Given the description of an element on the screen output the (x, y) to click on. 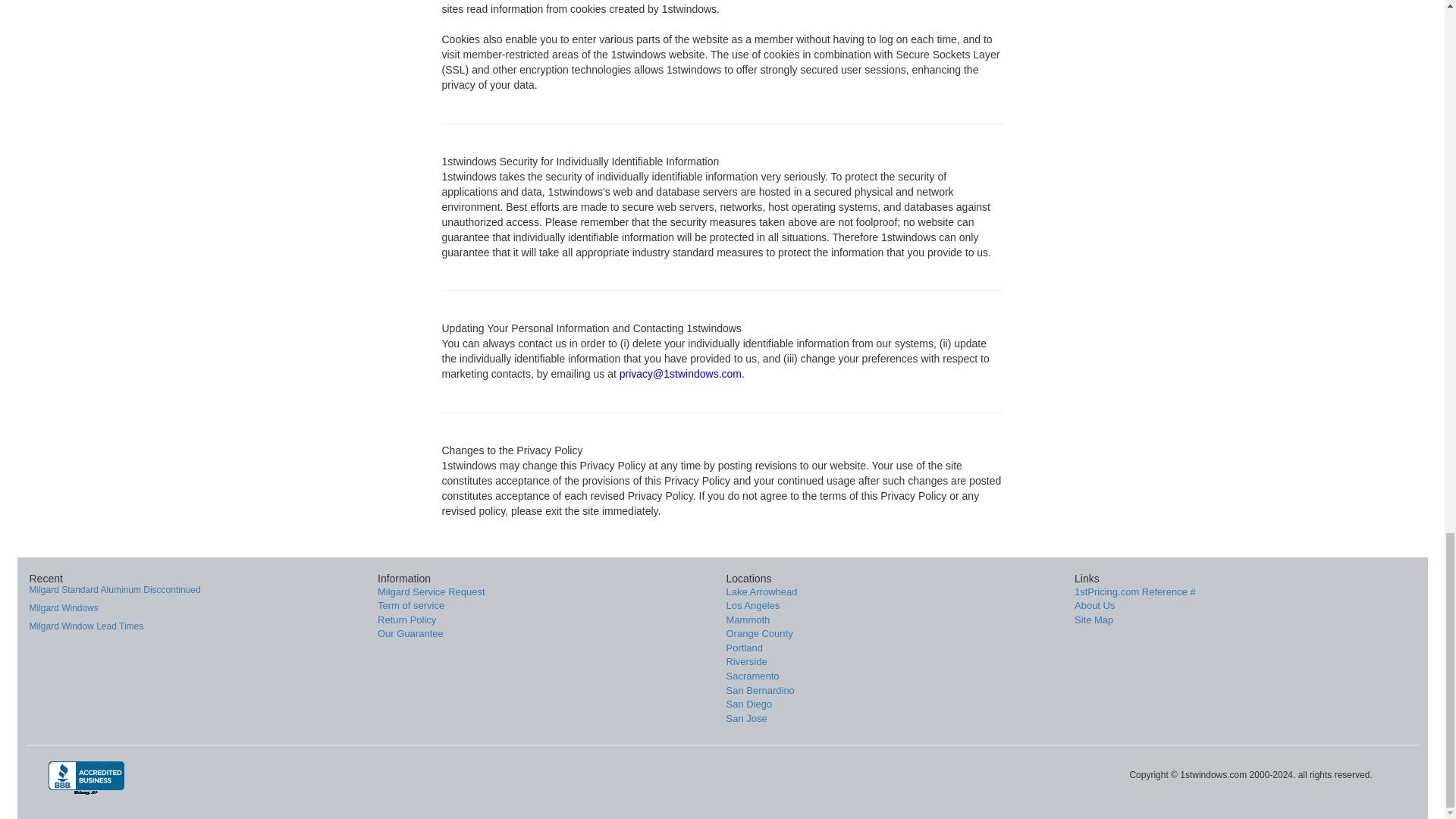
Milgard Windows (63, 607)
Milgard Window Lead Times (85, 625)
Milgard Standard Aluminum Disccontinued (114, 589)
Milgard Service Request (430, 591)
Term of service (410, 604)
